Given the description of an element on the screen output the (x, y) to click on. 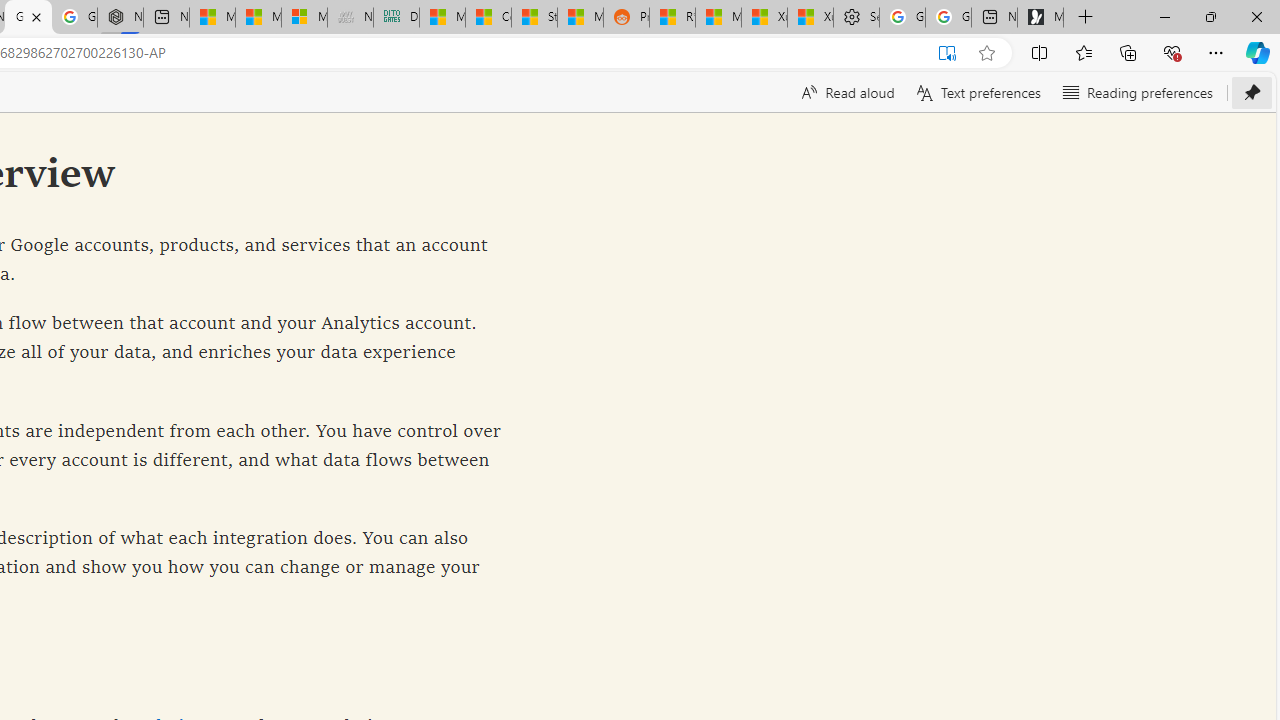
Exit Immersive Reader (F9) (946, 53)
Reading preferences (1136, 92)
